Given the description of an element on the screen output the (x, y) to click on. 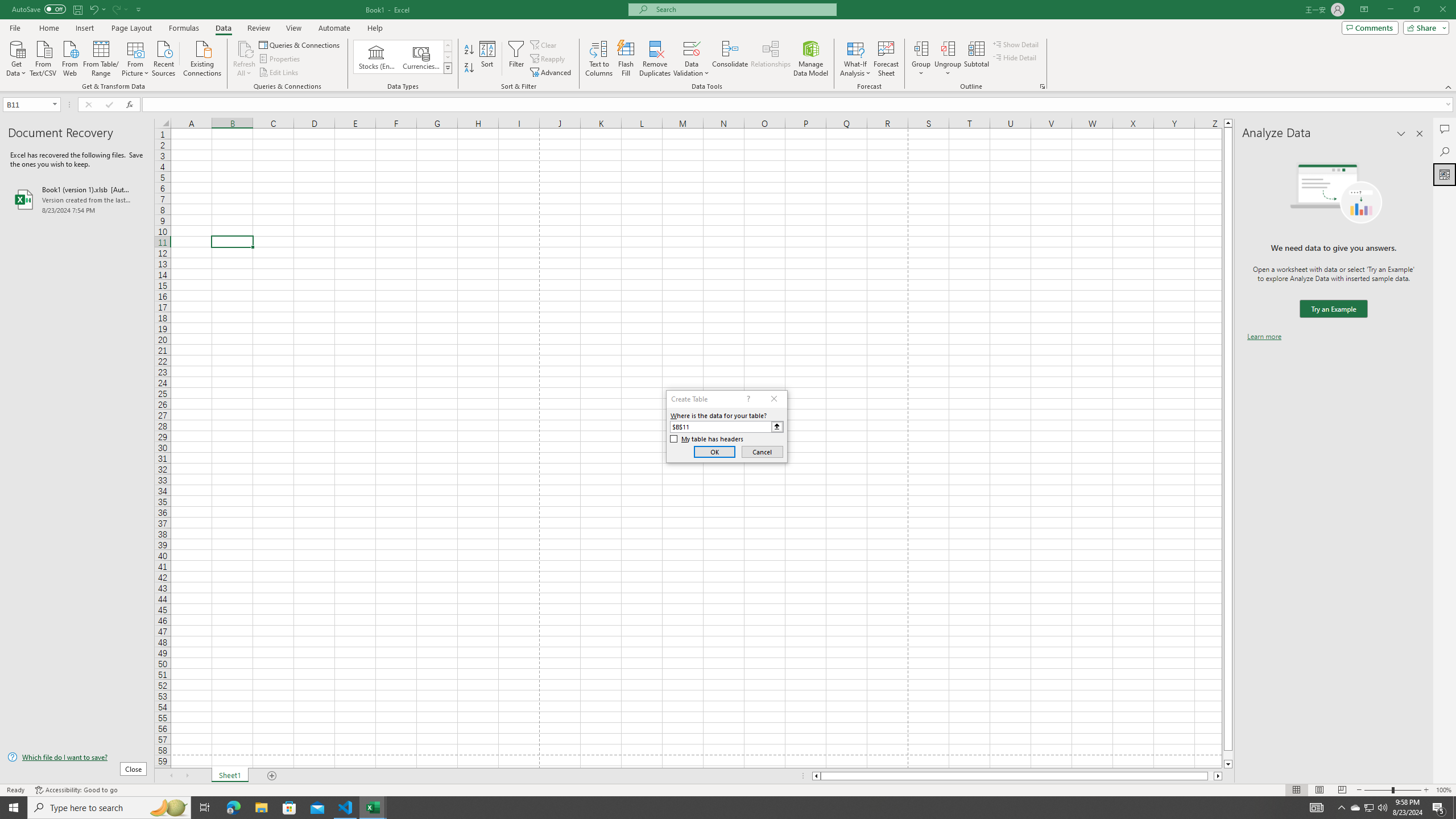
Text to Columns... (598, 58)
We need data to give you answers. Try an Example (1333, 308)
Get Data (16, 57)
Learn more (1264, 336)
Filter (515, 58)
From Text/CSV (43, 57)
